Given the description of an element on the screen output the (x, y) to click on. 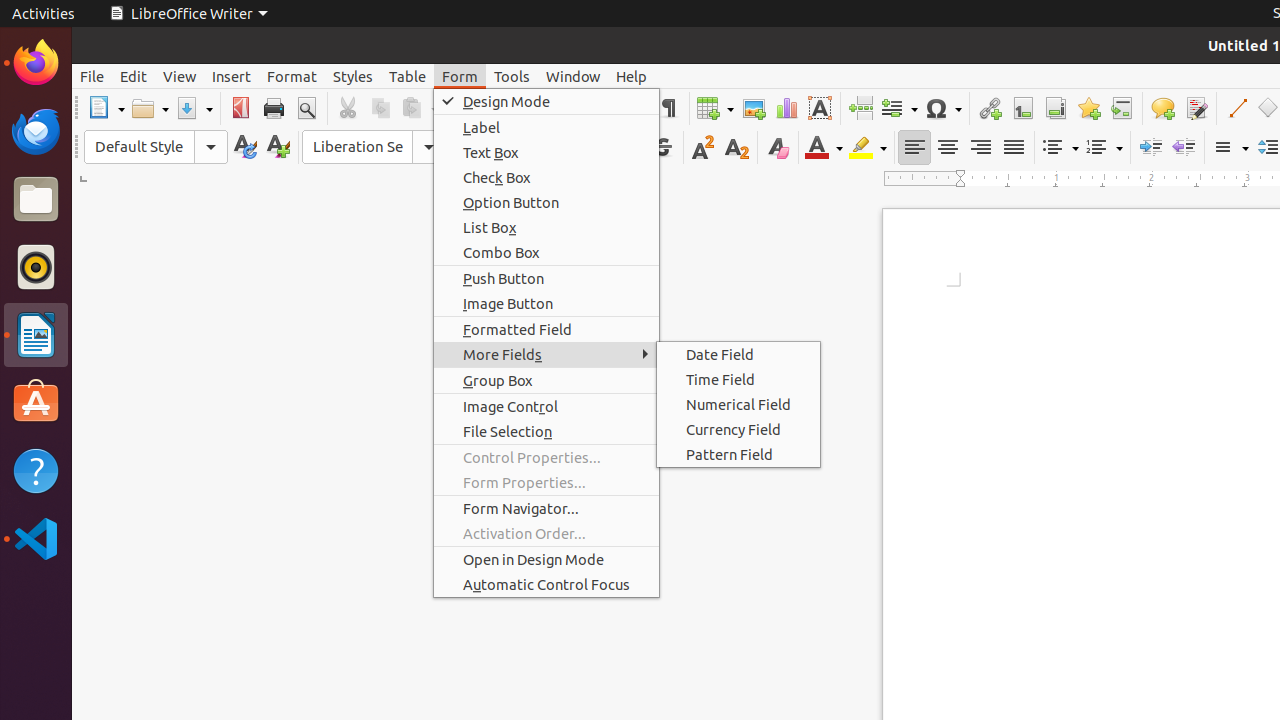
Table Element type: menu (407, 76)
Update Element type: push-button (244, 147)
Format Element type: menu (292, 76)
Hyperlink Element type: toggle-button (989, 108)
Field Element type: push-button (899, 108)
